Given the description of an element on the screen output the (x, y) to click on. 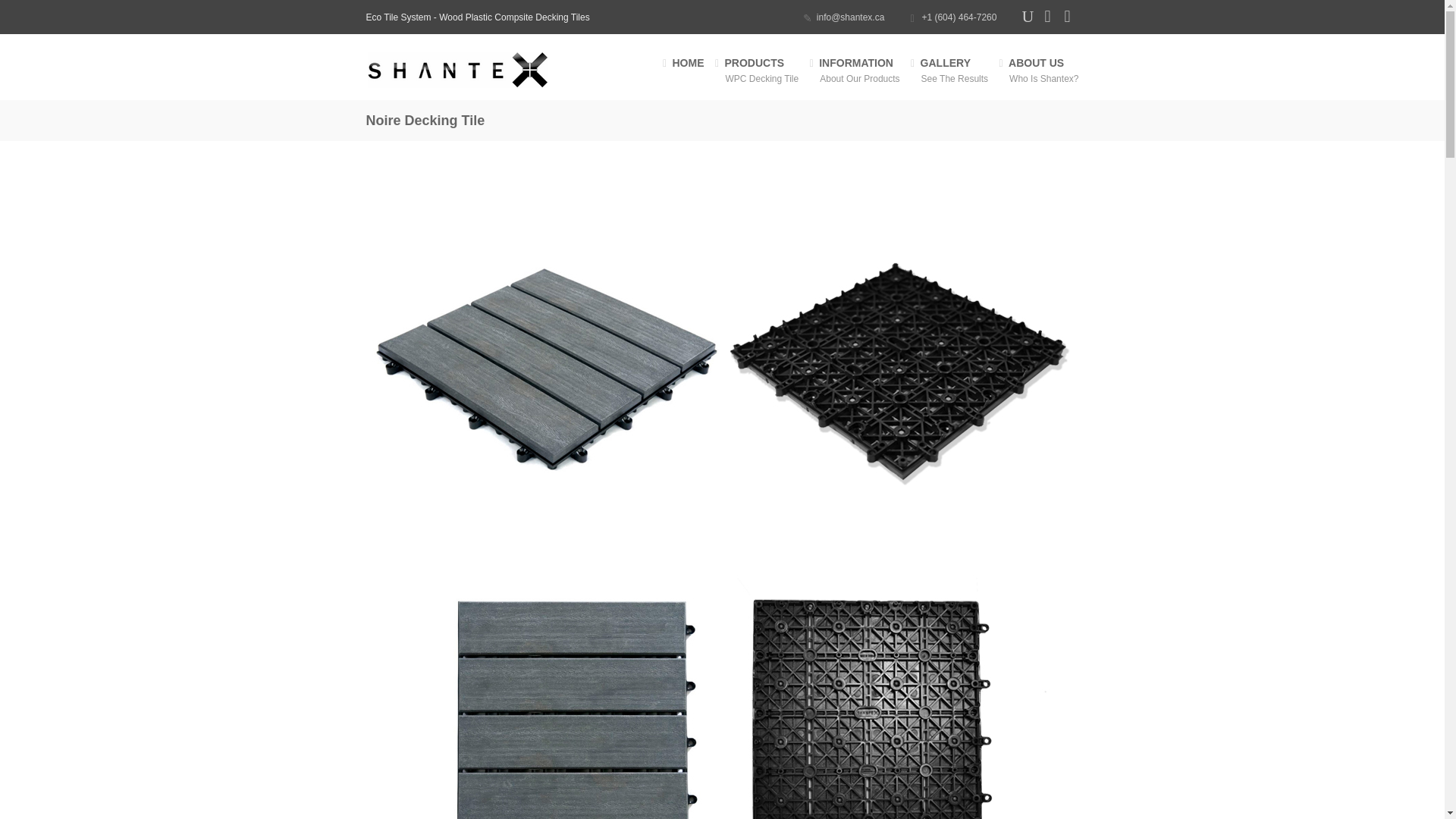
HOME (688, 70)
Home (478, 69)
